Given the description of an element on the screen output the (x, y) to click on. 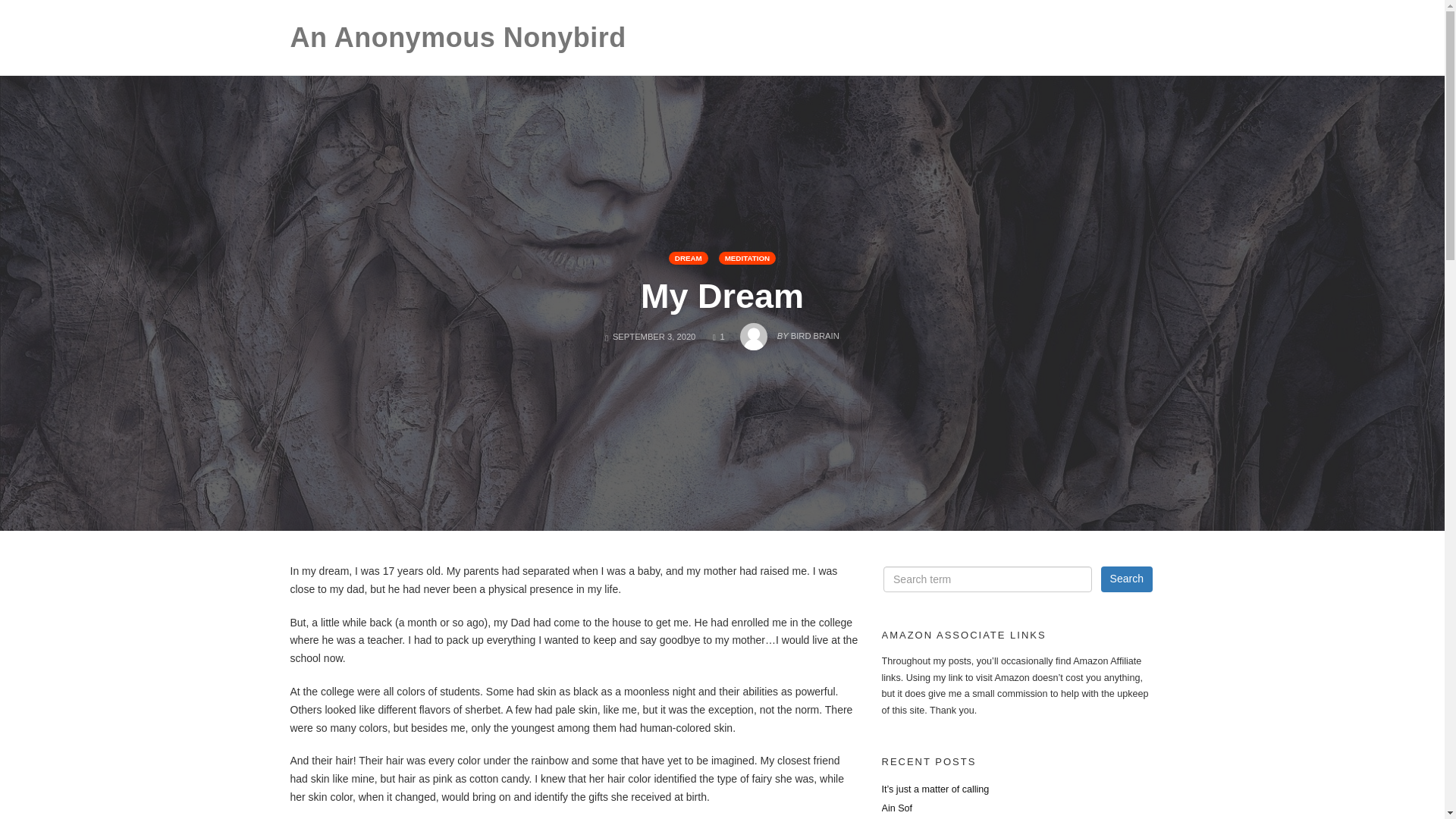
My Dream (721, 295)
DREAM (687, 257)
MEDITATION (747, 257)
An Anonymous Nonybird (458, 37)
Search (1126, 579)
Search (1126, 579)
BY BIRD BRAIN (719, 336)
Ain Sof (789, 331)
